Given the description of an element on the screen output the (x, y) to click on. 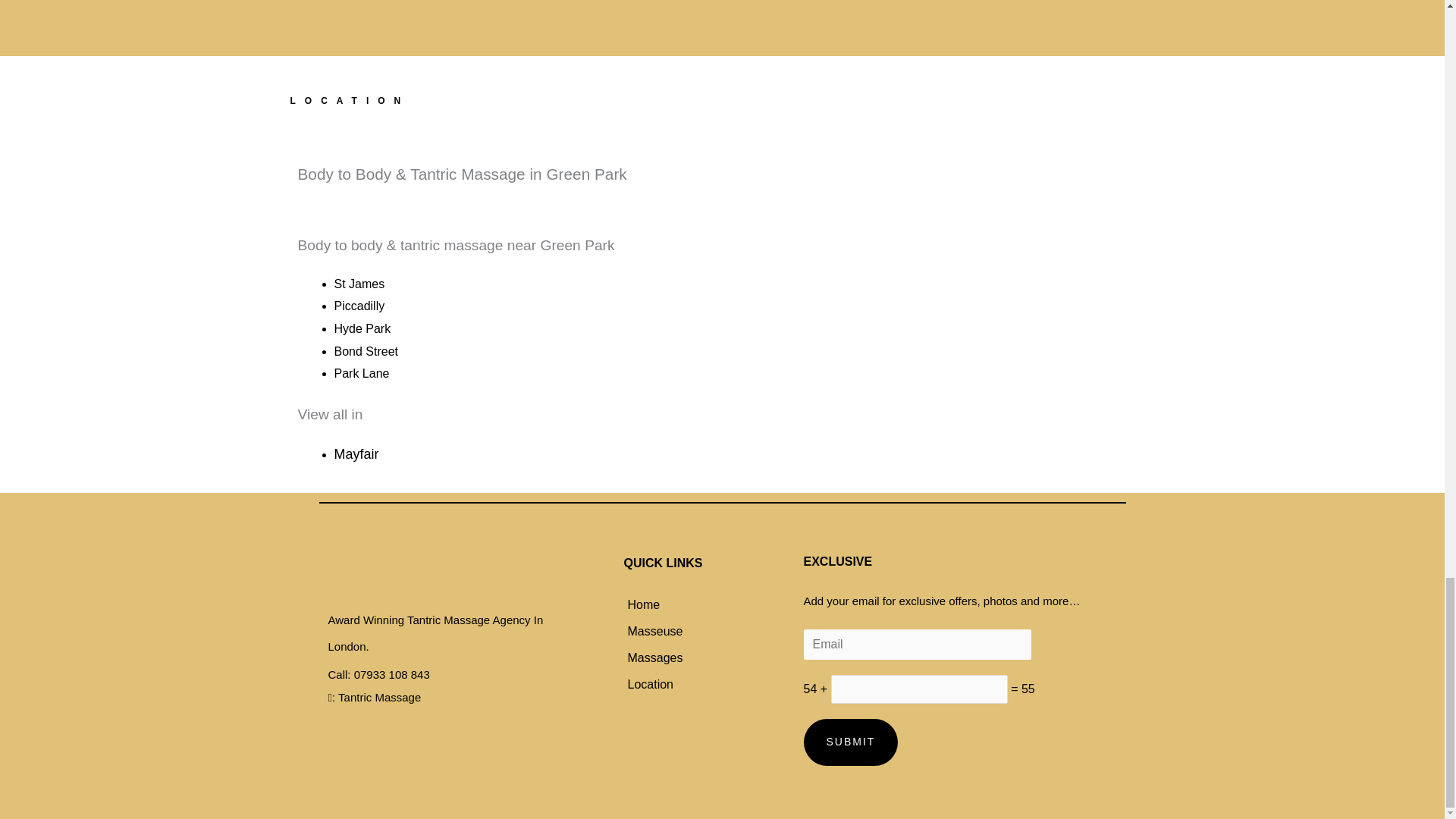
SUBMIT (850, 742)
